Given the description of an element on the screen output the (x, y) to click on. 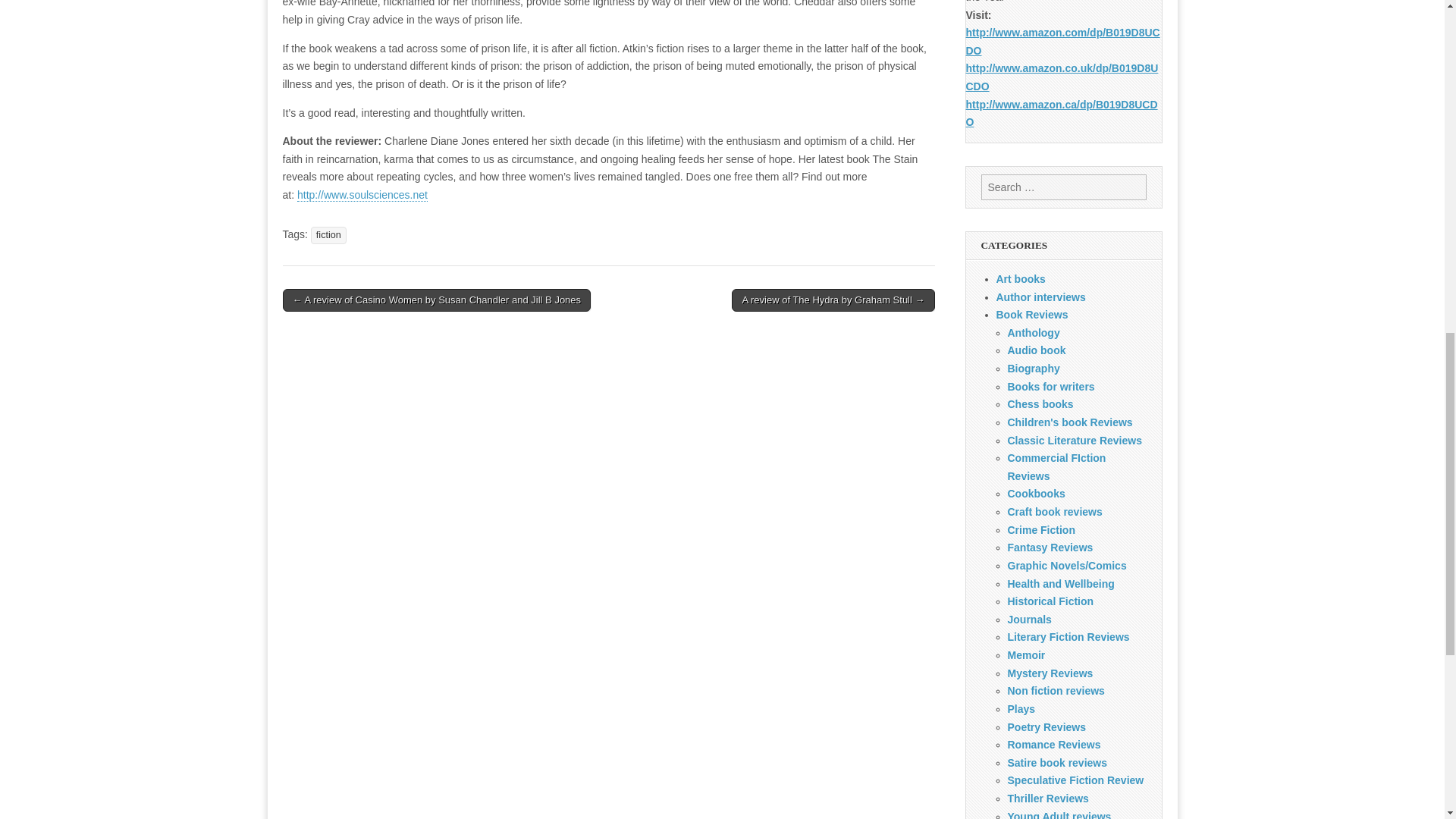
Books for writers (1050, 386)
Audio book (1036, 349)
Art books (1020, 278)
Author interviews (1040, 297)
Classic Literature Reviews (1074, 440)
Chess books (1040, 404)
Cookbooks (1035, 493)
fiction (328, 235)
Crime Fiction (1040, 530)
Biography (1033, 368)
Health and Wellbeing (1060, 583)
Children's book Reviews (1069, 422)
Commercial FIction Reviews (1056, 467)
Anthology (1033, 332)
Fantasy Reviews (1050, 547)
